Given the description of an element on the screen output the (x, y) to click on. 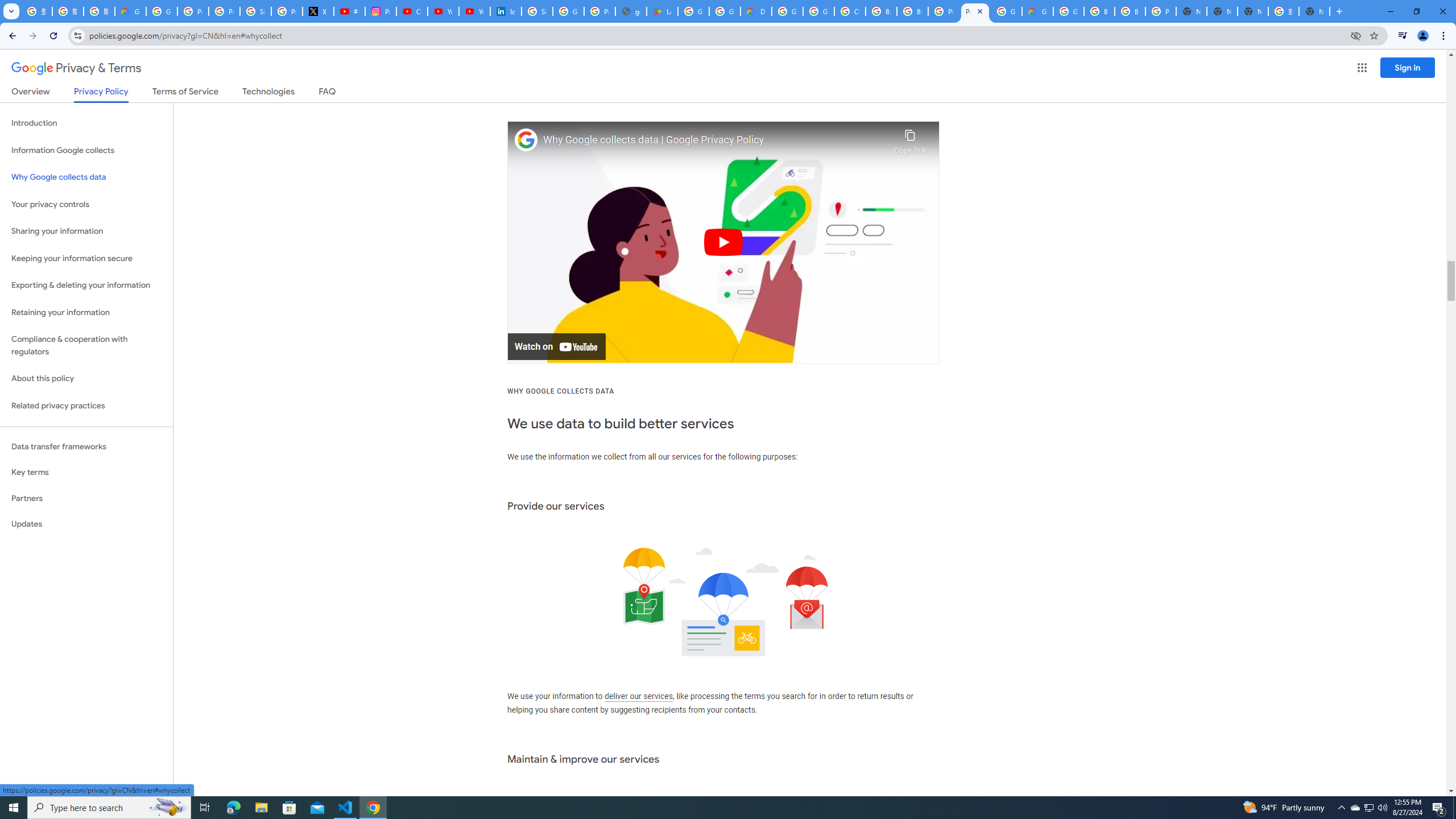
YouTube Culture & Trends - YouTube Top 10, 2021 (474, 11)
Sign in - Google Accounts (536, 11)
Related privacy practices (86, 405)
#nbabasketballhighlights - YouTube (349, 11)
FAQ (327, 93)
Google Cloud Privacy Notice (130, 11)
Why Google collects data | Google Privacy Policy (715, 140)
